Given the description of an element on the screen output the (x, y) to click on. 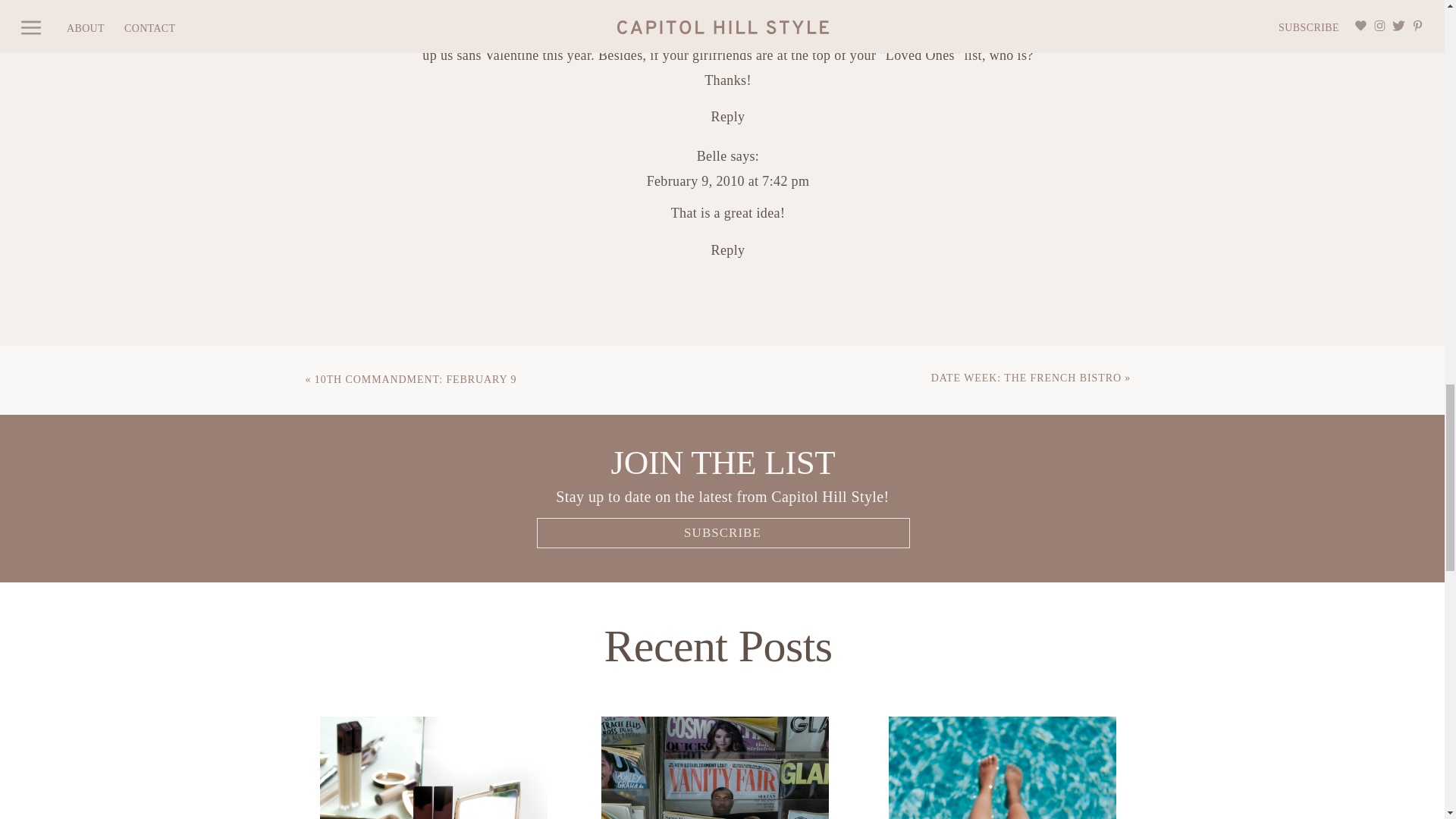
DATE WEEK: THE FRENCH BISTRO (1026, 378)
SUBSCRIBE (722, 529)
Saw It On Social: The Battle of the Spendy Swimsuits (1002, 767)
10TH COMMANDMENT: FEBRUARY 9 (415, 378)
February 9, 2010 at 7:42 pm (727, 181)
Reply (728, 249)
The Beauty Edit: An Under-Eye Concealer That Actually Works (433, 767)
February 9, 2010 at 7:06 pm (727, 2)
Reply (728, 116)
The Range: A Business Look from Boden (713, 767)
